Given the description of an element on the screen output the (x, y) to click on. 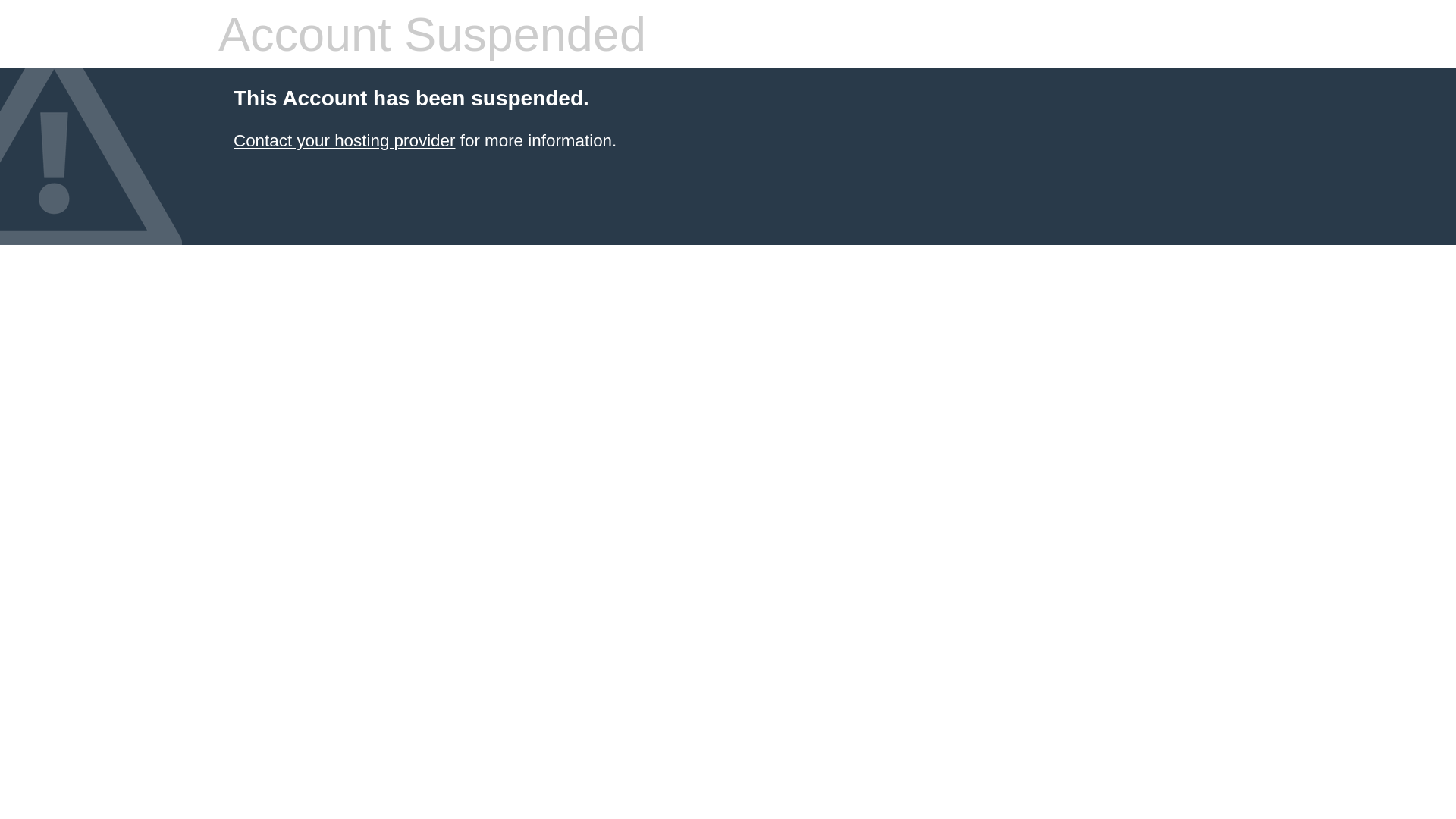
Contact your hosting provider Element type: text (344, 140)
